Given the description of an element on the screen output the (x, y) to click on. 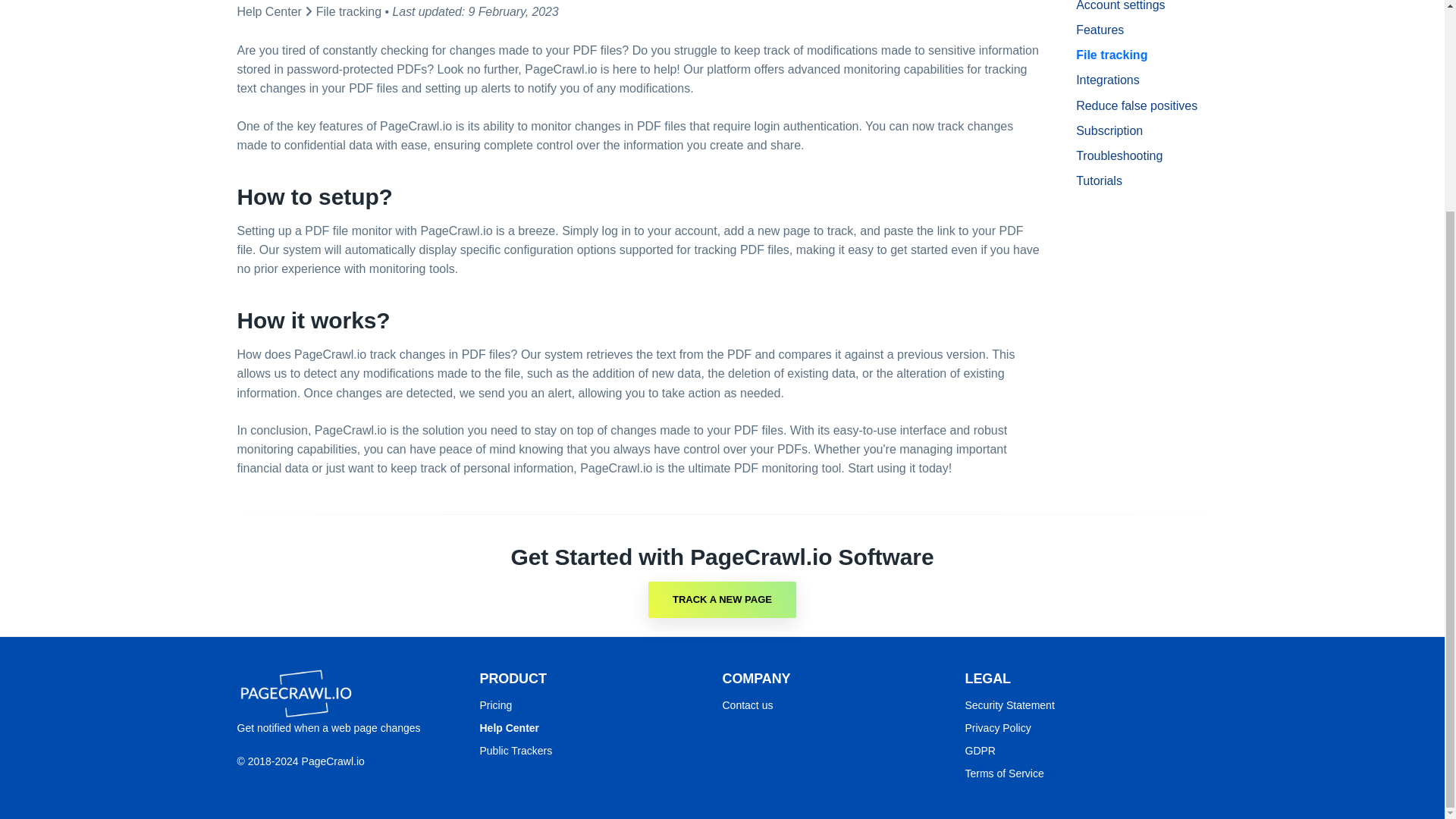
Tutorials (1141, 180)
Security Statement (1008, 705)
File tracking (1141, 54)
Reduce false positives (1141, 105)
Public Trackers (515, 750)
GDPR (978, 750)
Terms of Service (1003, 773)
Public trackers (515, 750)
TRACK A NEW PAGE (721, 599)
Troubleshooting (1141, 155)
Help (508, 727)
File tracking (348, 11)
PageCrawl.io (294, 693)
Privacy Policy (996, 727)
Pricing (495, 705)
